Given the description of an element on the screen output the (x, y) to click on. 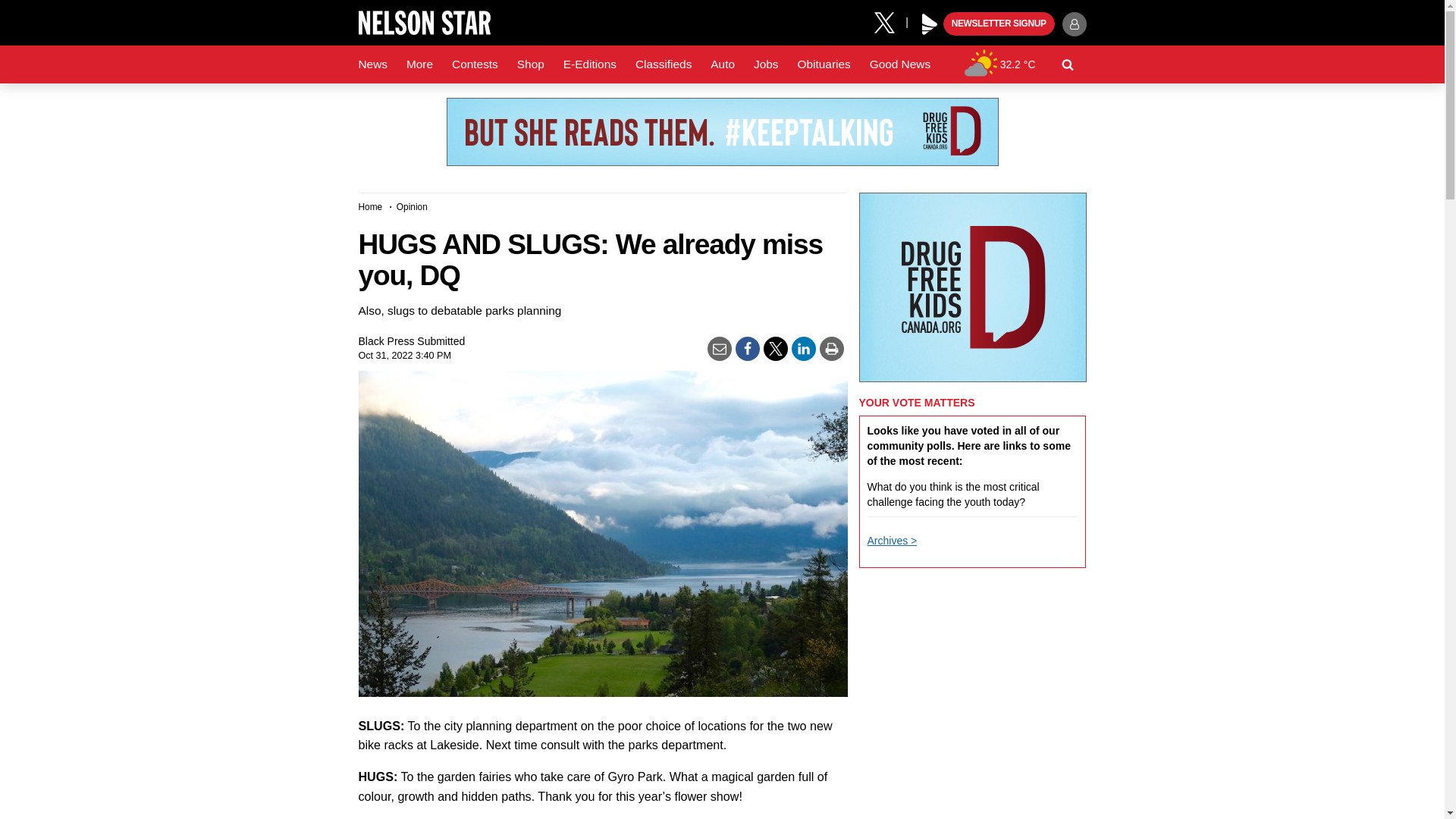
3rd party ad content (721, 131)
News (372, 64)
Play (929, 24)
X (889, 21)
NEWSLETTER SIGNUP (998, 24)
Black Press Media (929, 24)
